Given the description of an element on the screen output the (x, y) to click on. 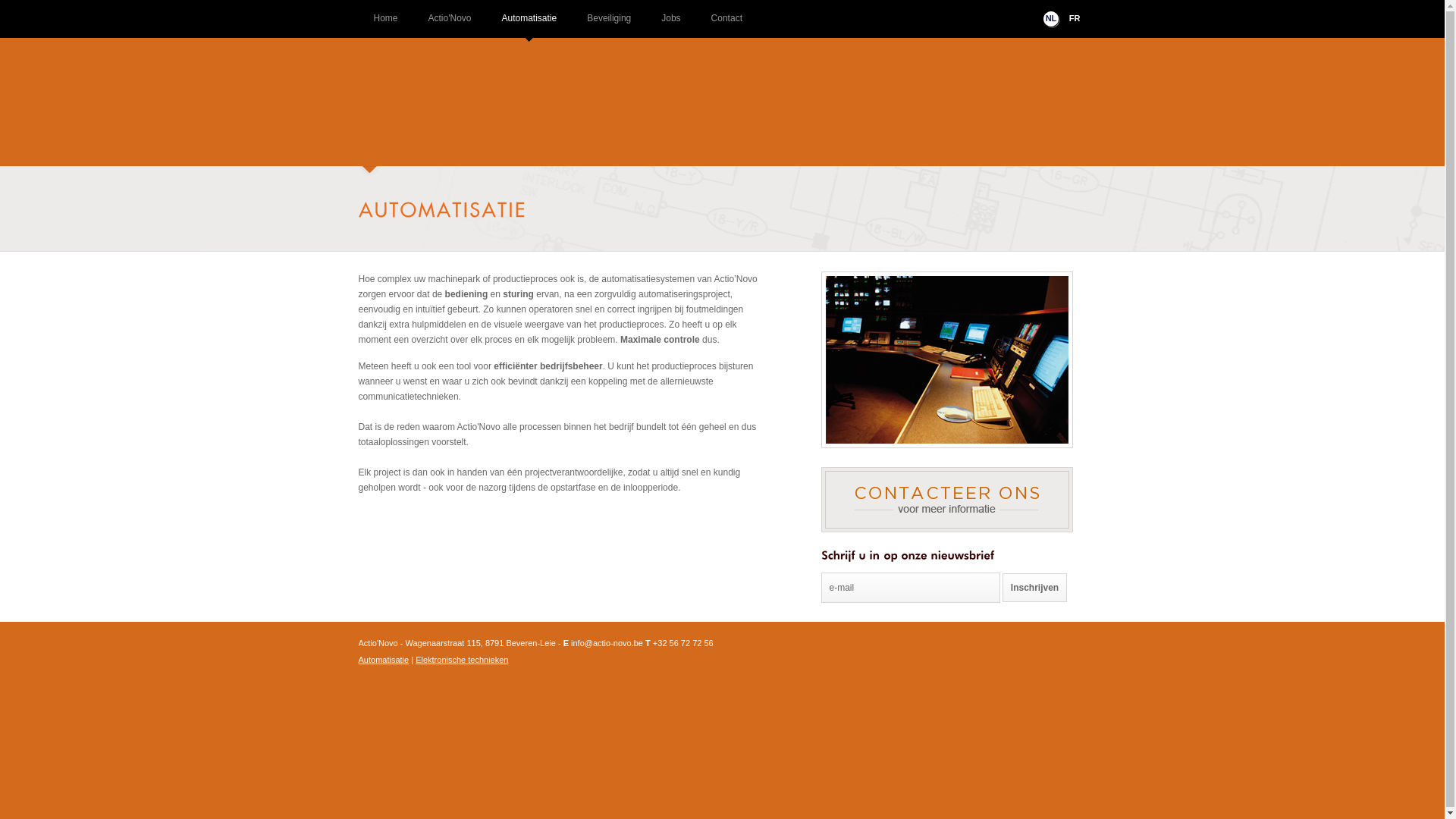
Jobs Element type: text (670, 22)
Home Element type: text (384, 22)
Contact Element type: text (726, 22)
Beveiliging Element type: text (608, 22)
Automatisatie Element type: text (529, 22)
info@actio-novo.be Element type: text (607, 642)
Inschrijven Element type: text (1034, 587)
Automatisatie Element type: text (382, 659)
Elektronische technieken Element type: text (461, 659)
NL Element type: text (1050, 19)
FR Element type: text (1074, 19)
Actio'Novo Element type: text (449, 22)
